Given the description of an element on the screen output the (x, y) to click on. 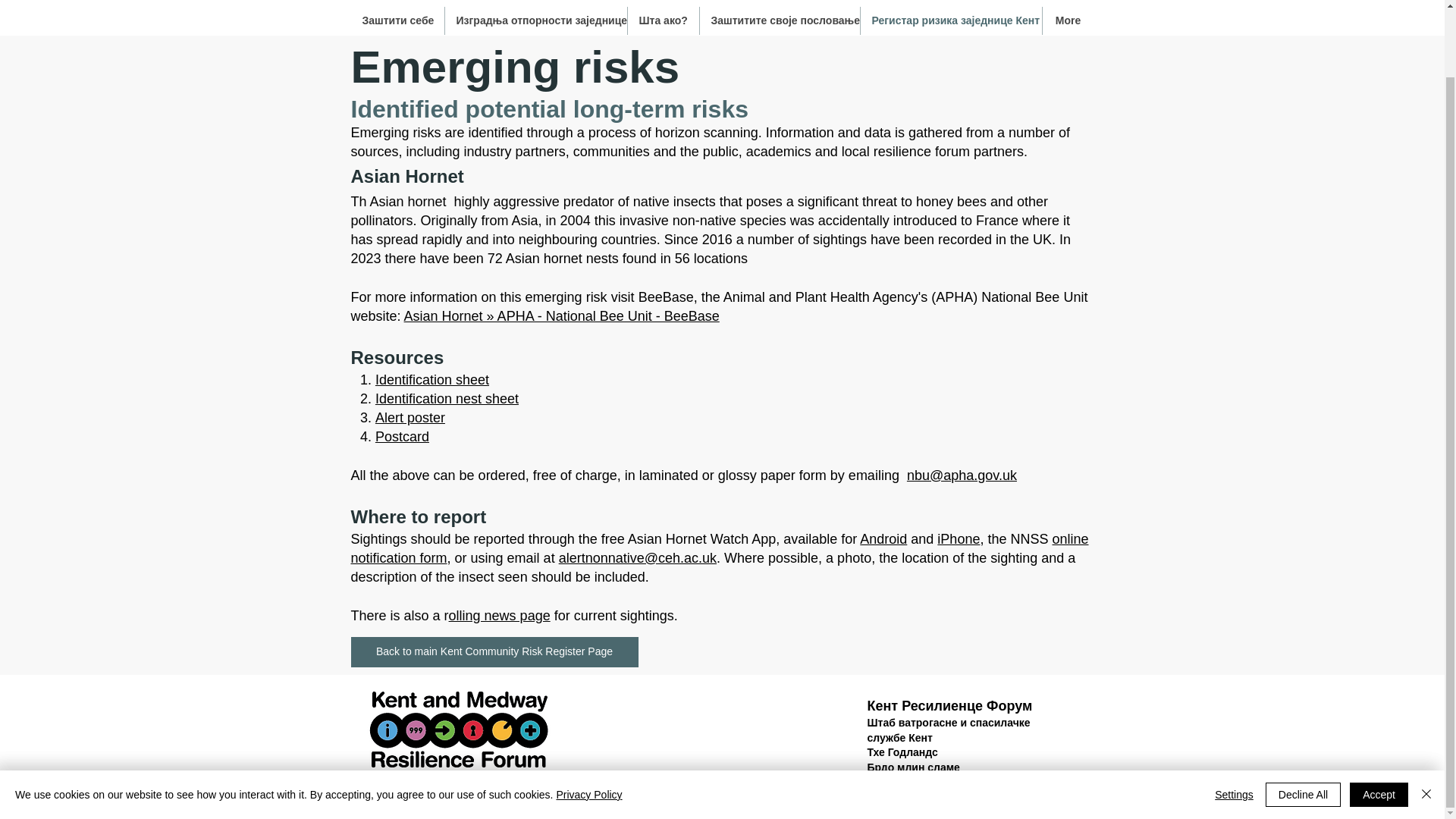
Kent Resilience Forum logo image links to home page (458, 729)
